Given the description of an element on the screen output the (x, y) to click on. 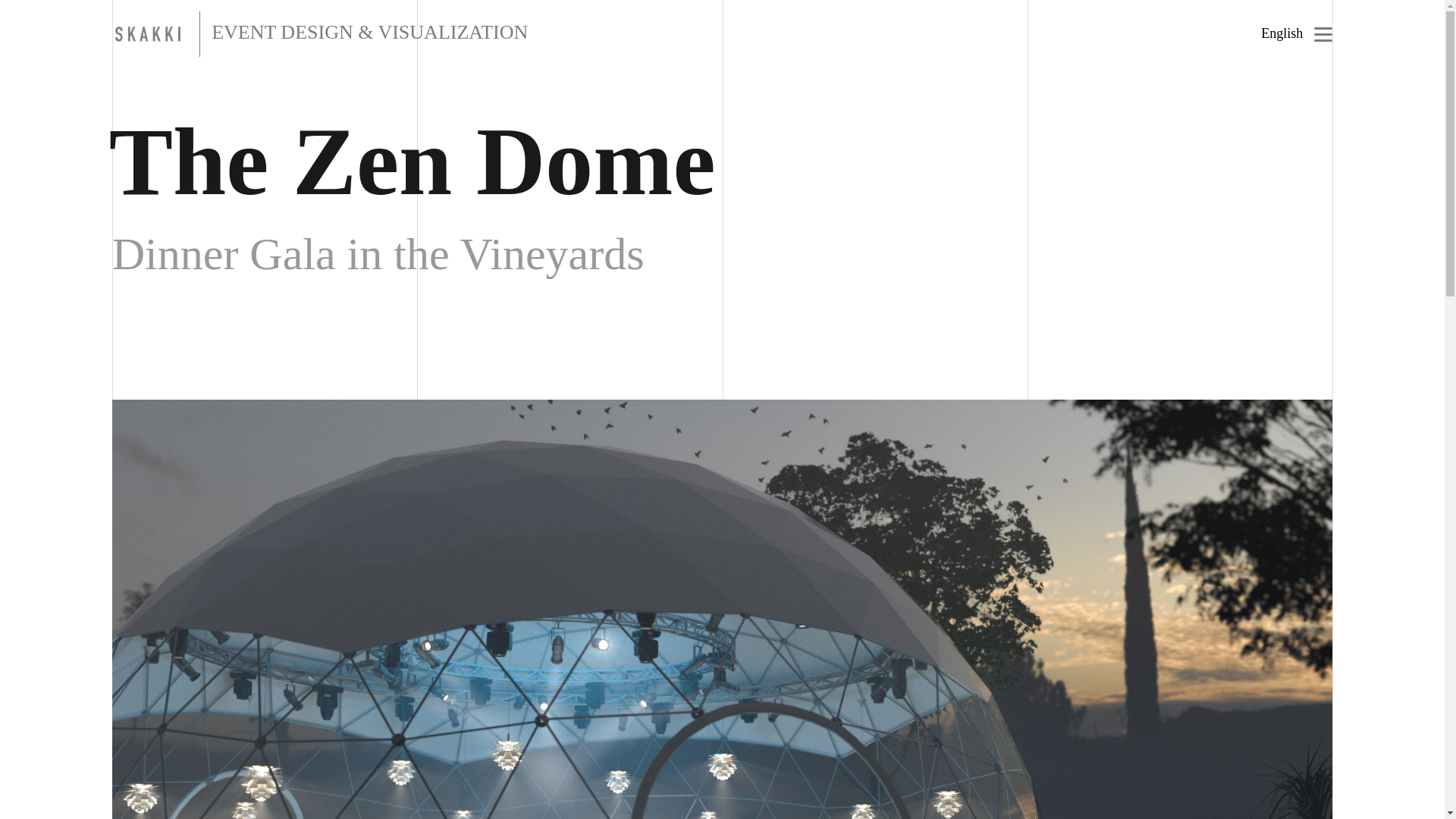
English (1281, 33)
